Given the description of an element on the screen output the (x, y) to click on. 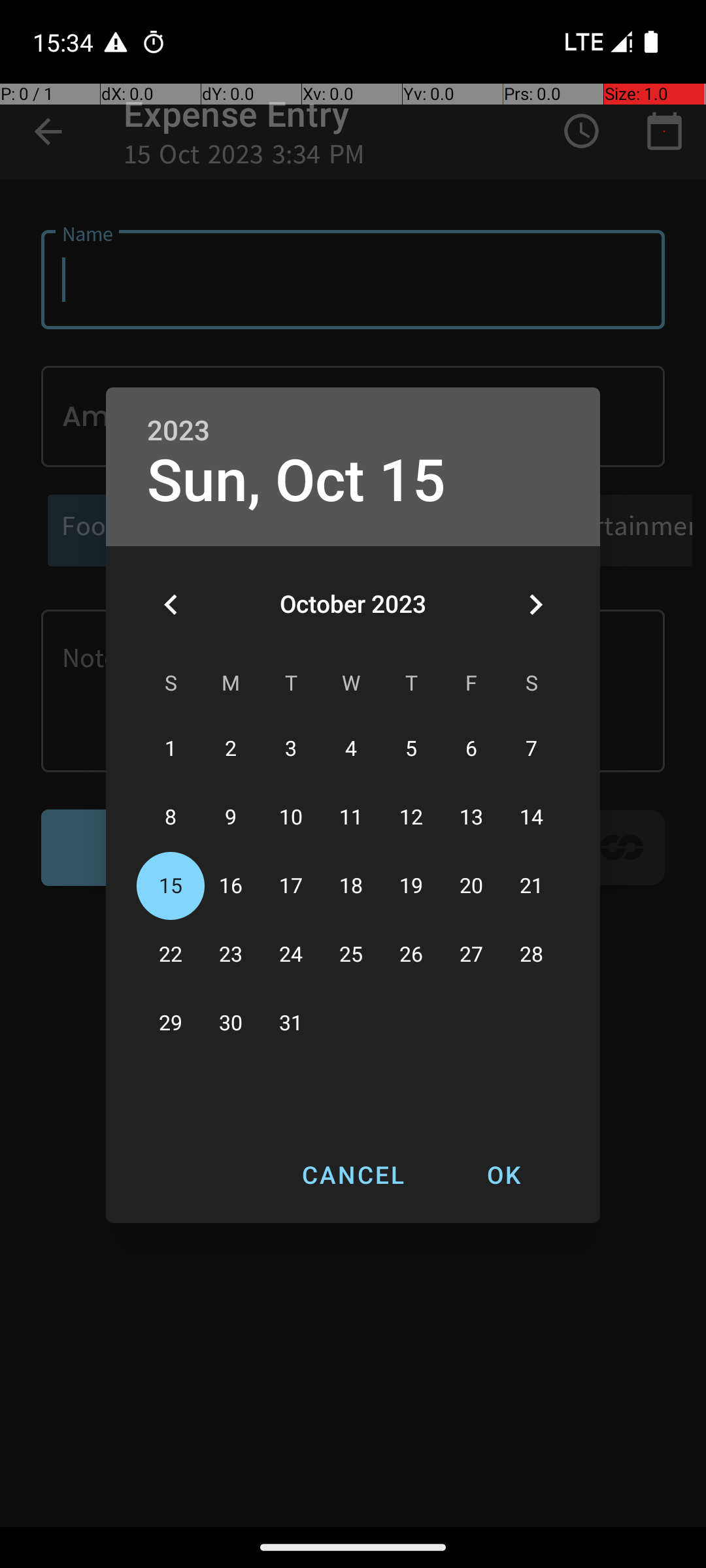
2023 Element type: android.widget.TextView (178, 430)
Previous month Element type: android.widget.ImageButton (170, 604)
Next month Element type: android.widget.ImageButton (535, 604)
CANCEL Element type: android.widget.Button (352, 1174)
11 Element type: android.view.View (350, 817)
12 Element type: android.view.View (411, 817)
13 Element type: android.view.View (471, 817)
14 Element type: android.view.View (531, 817)
16 Element type: android.view.View (230, 885)
17 Element type: android.view.View (290, 885)
18 Element type: android.view.View (350, 885)
19 Element type: android.view.View (411, 885)
21 Element type: android.view.View (531, 885)
22 Element type: android.view.View (170, 954)
23 Element type: android.view.View (230, 954)
24 Element type: android.view.View (290, 954)
25 Element type: android.view.View (350, 954)
26 Element type: android.view.View (411, 954)
27 Element type: android.view.View (471, 954)
28 Element type: android.view.View (531, 954)
29 Element type: android.view.View (170, 1023)
31 Element type: android.view.View (290, 1023)
